Given the description of an element on the screen output the (x, y) to click on. 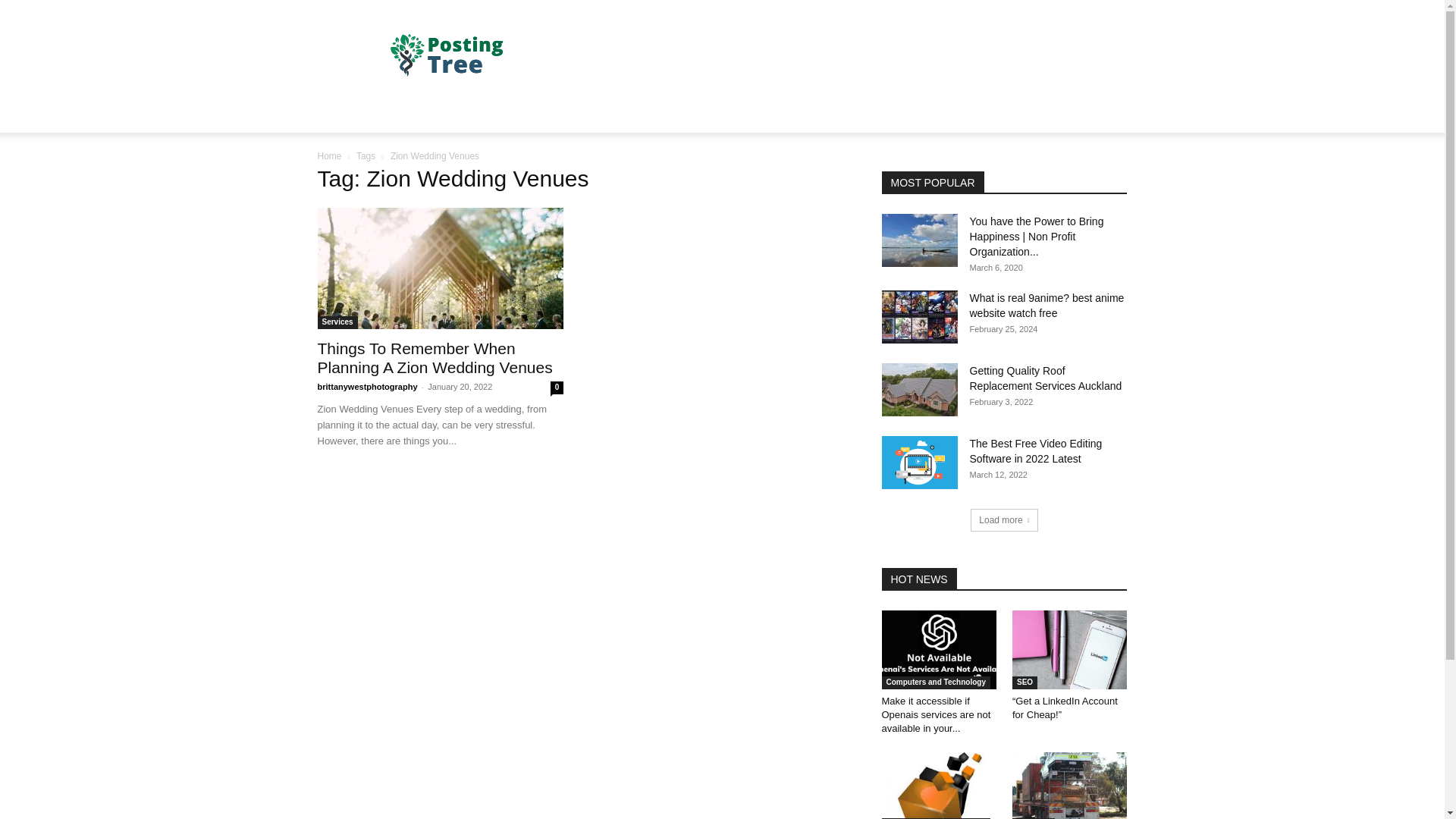
BUSINESS (407, 114)
TECHNOLOGY (557, 114)
Search (1085, 174)
Things To Remember When Planning A Zion Wedding Venues (439, 268)
GUIDELINE (800, 114)
What is real 9anime? best anime website watch free (1046, 305)
HOME (343, 114)
Things To Remember When Planning A Zion Wedding Venues (434, 357)
0 (556, 387)
CONTACT (724, 114)
EDUCATION (646, 114)
What is real 9anime? best anime website watch free (918, 316)
Getting Quality Roof Replacement Services Auckland (1045, 378)
Things To Remember When Planning A Zion Wedding Venues (434, 357)
Home (328, 155)
